Given the description of an element on the screen output the (x, y) to click on. 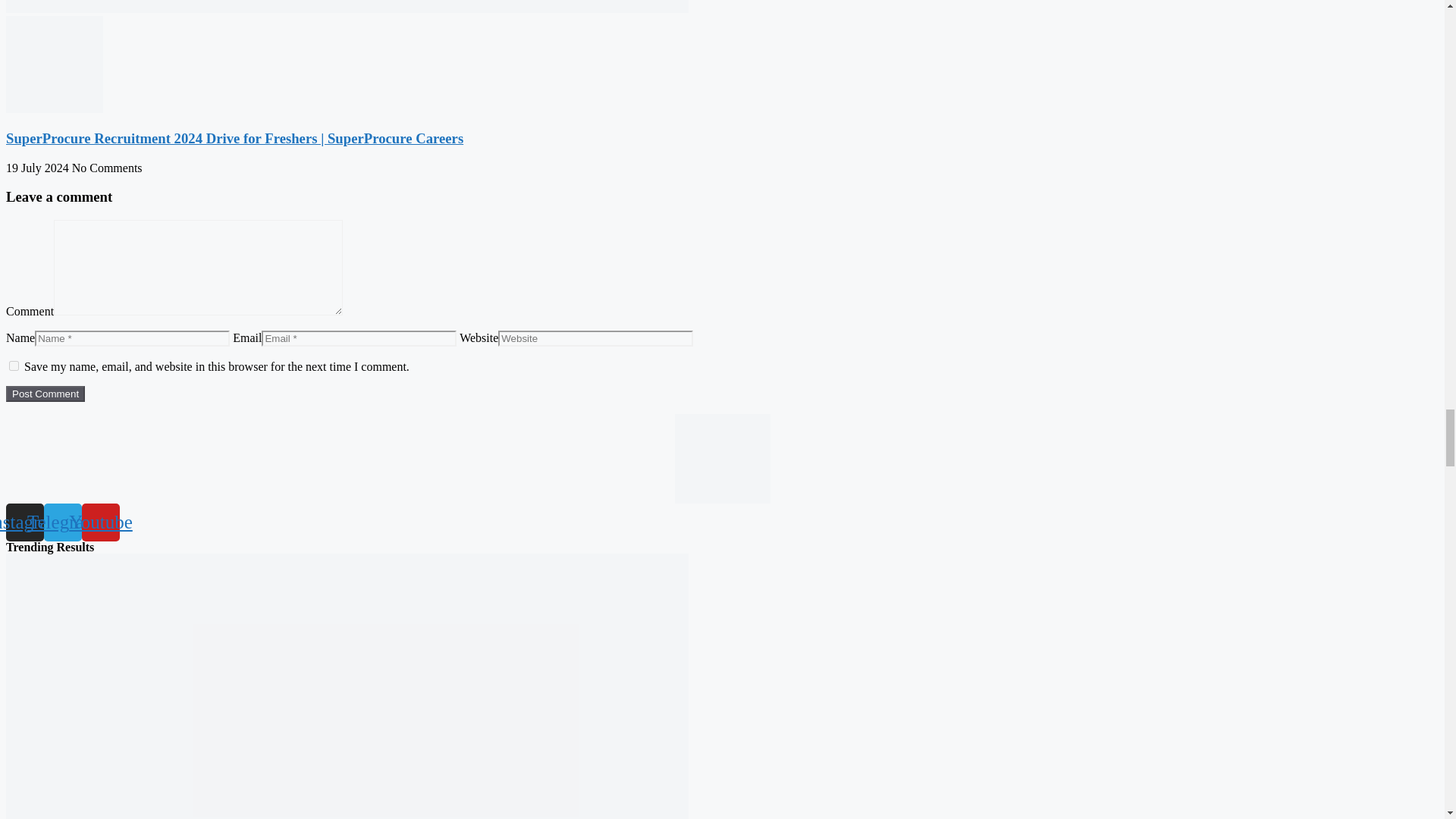
yes (13, 366)
Post Comment (44, 393)
